Given the description of an element on the screen output the (x, y) to click on. 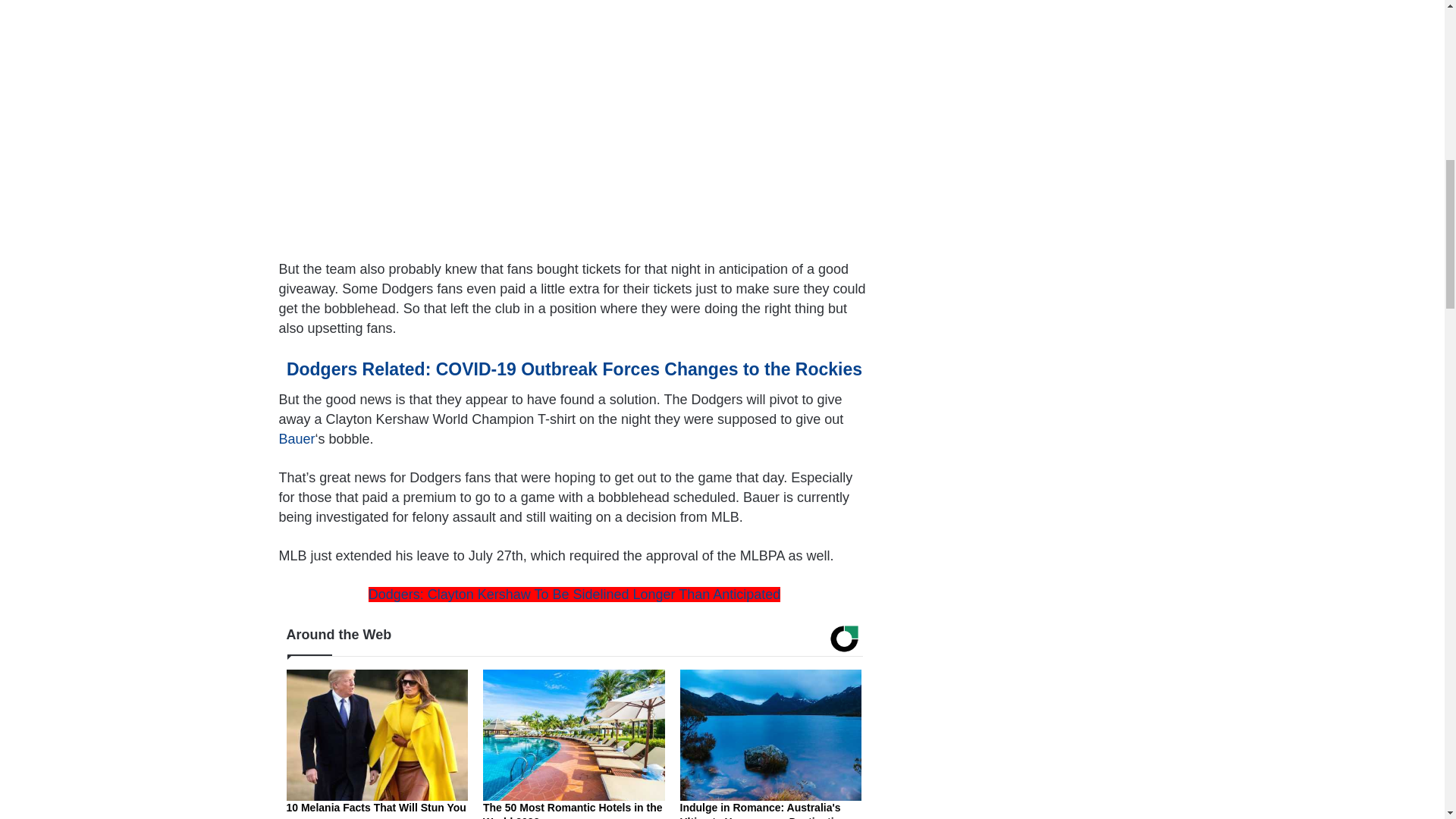
Bauer (297, 438)
